Given the description of an element on the screen output the (x, y) to click on. 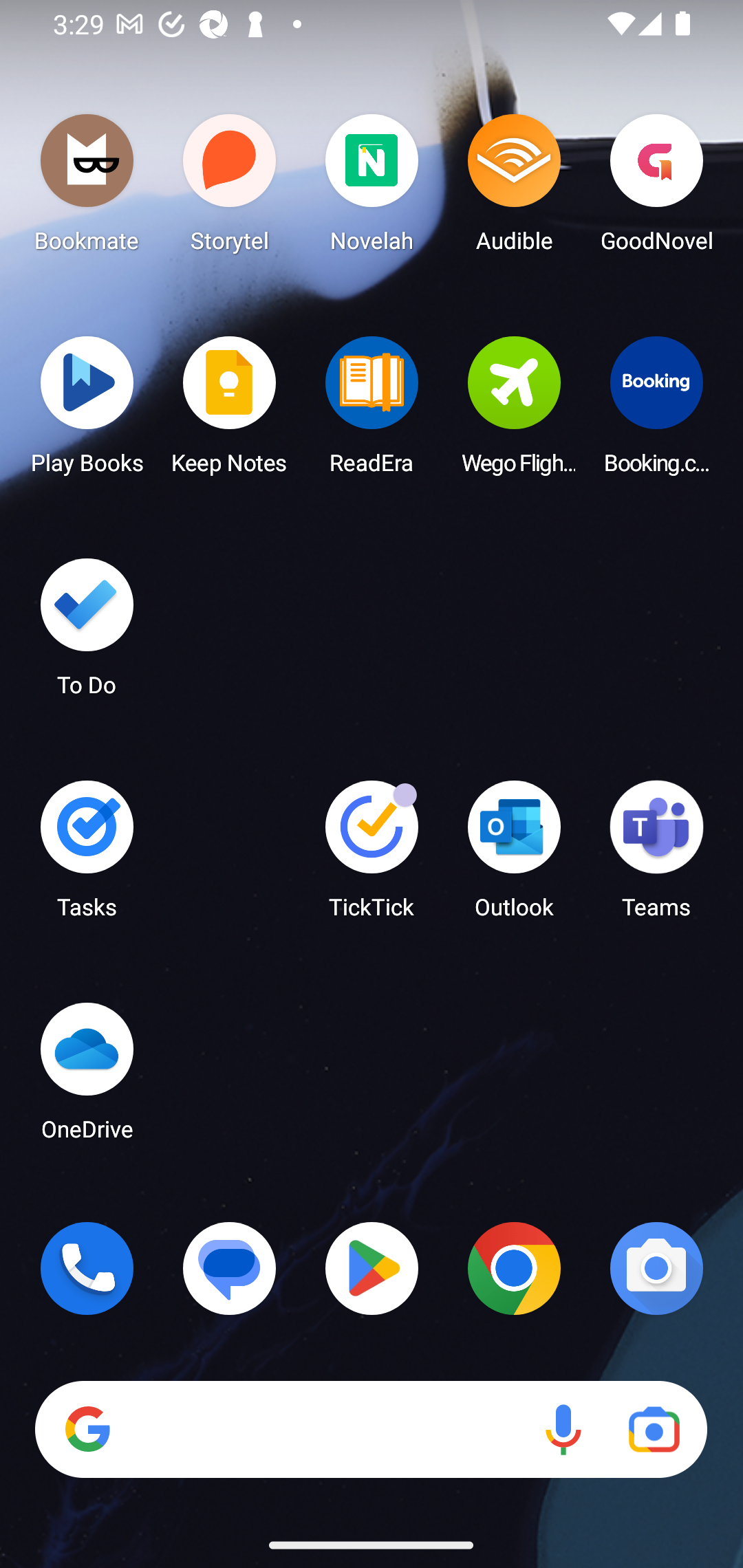
Bookmate (86, 188)
Storytel (229, 188)
Novelah (371, 188)
Audible (513, 188)
GoodNovel (656, 188)
Play Books (86, 410)
Keep Notes (229, 410)
ReadEra (371, 410)
Wego Flights & Hotels (513, 410)
Booking.com (656, 410)
To Do (86, 633)
Tasks (86, 854)
TickTick TickTick has 3 notifications (371, 854)
Outlook (513, 854)
Teams (656, 854)
OneDrive (86, 1076)
Phone (86, 1268)
Messages (229, 1268)
Play Store (371, 1268)
Chrome (513, 1268)
Camera (656, 1268)
Search Voice search Google Lens (370, 1429)
Voice search (562, 1429)
Google Lens (653, 1429)
